Given the description of an element on the screen output the (x, y) to click on. 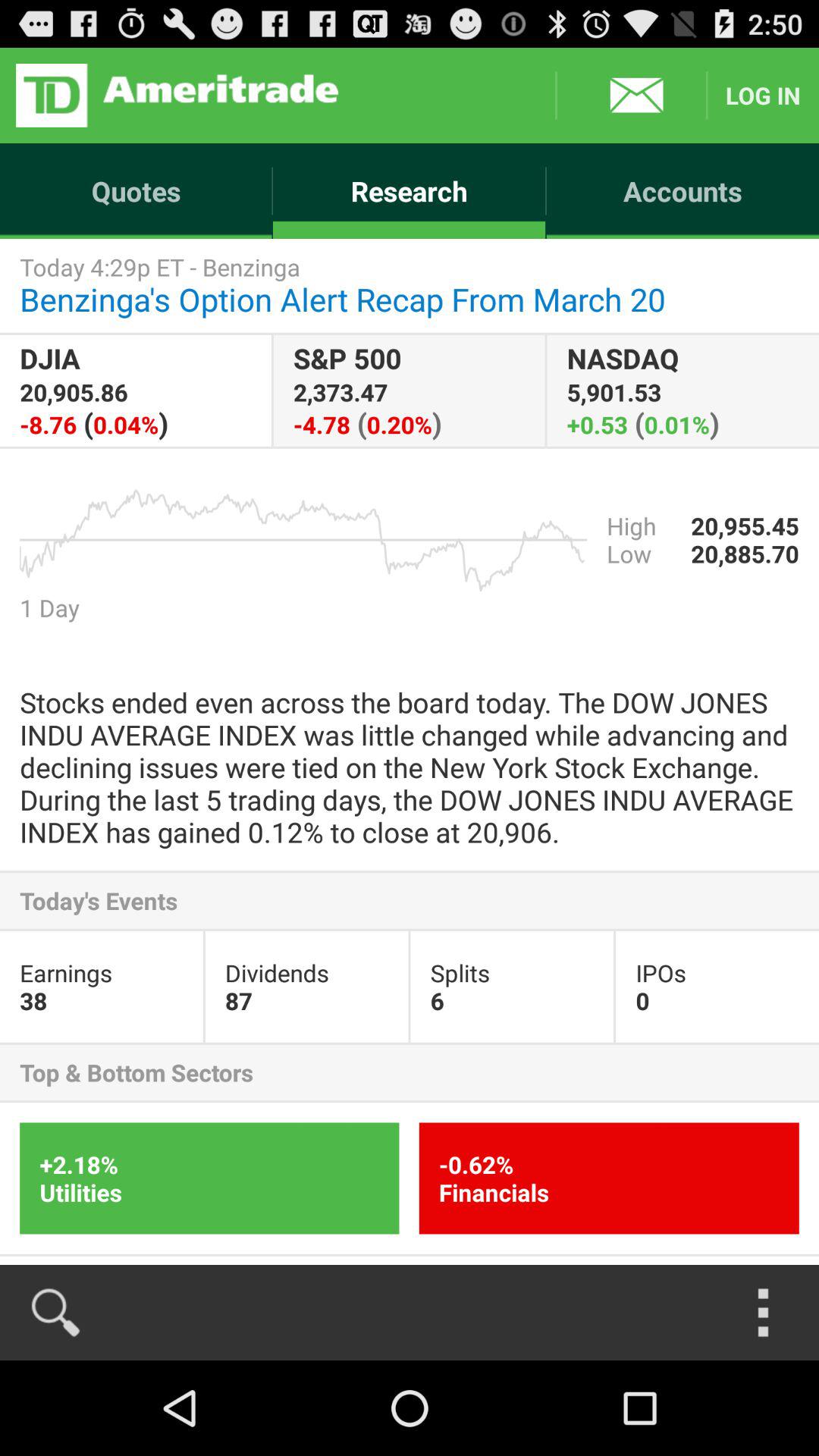
click item below today 4 29p item (683, 390)
